Given the description of an element on the screen output the (x, y) to click on. 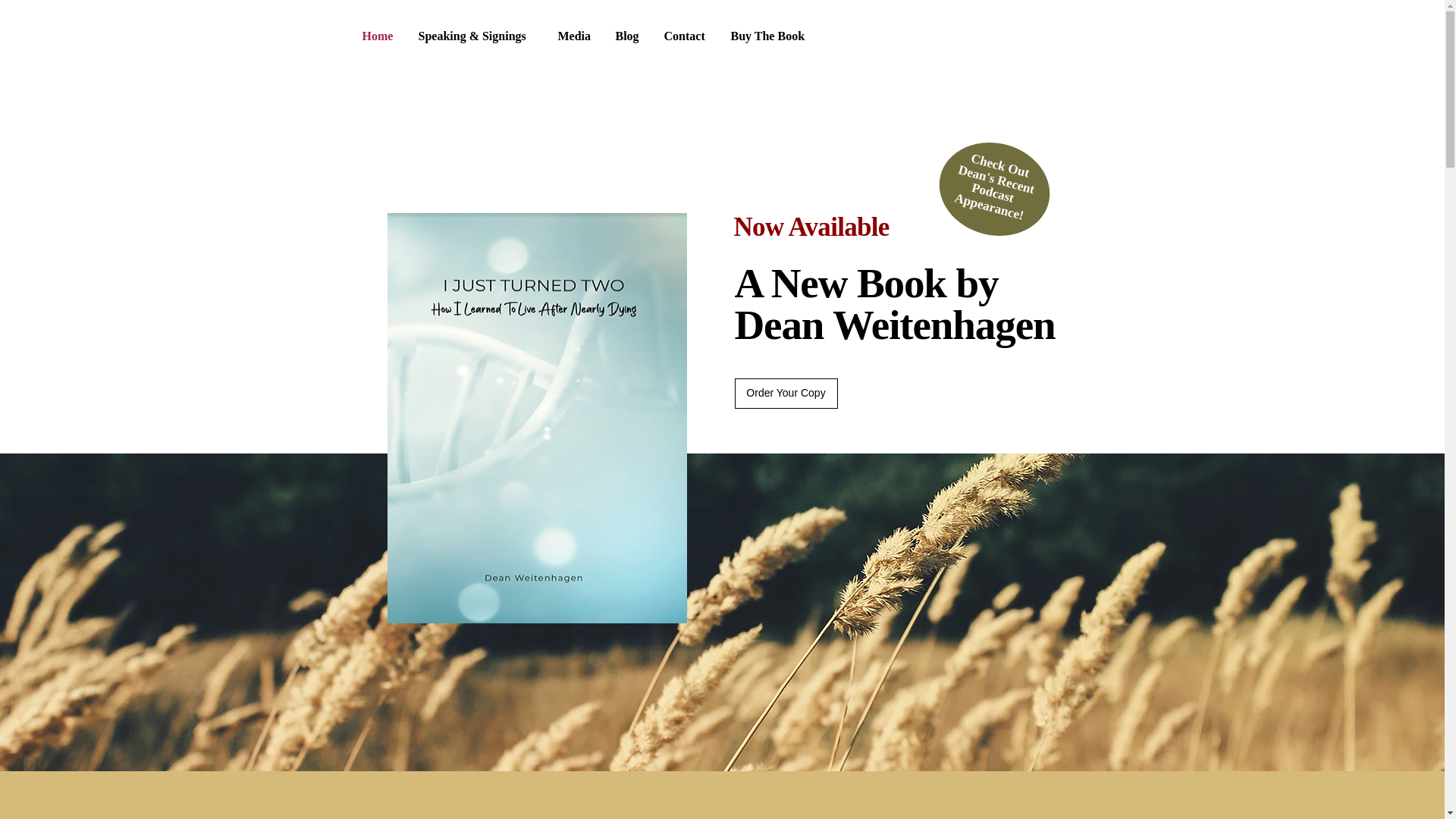
Order Your Copy (785, 393)
Contact (685, 35)
Buy The Book (770, 35)
Home (378, 35)
Media (575, 35)
Blog (991, 179)
